Given the description of an element on the screen output the (x, y) to click on. 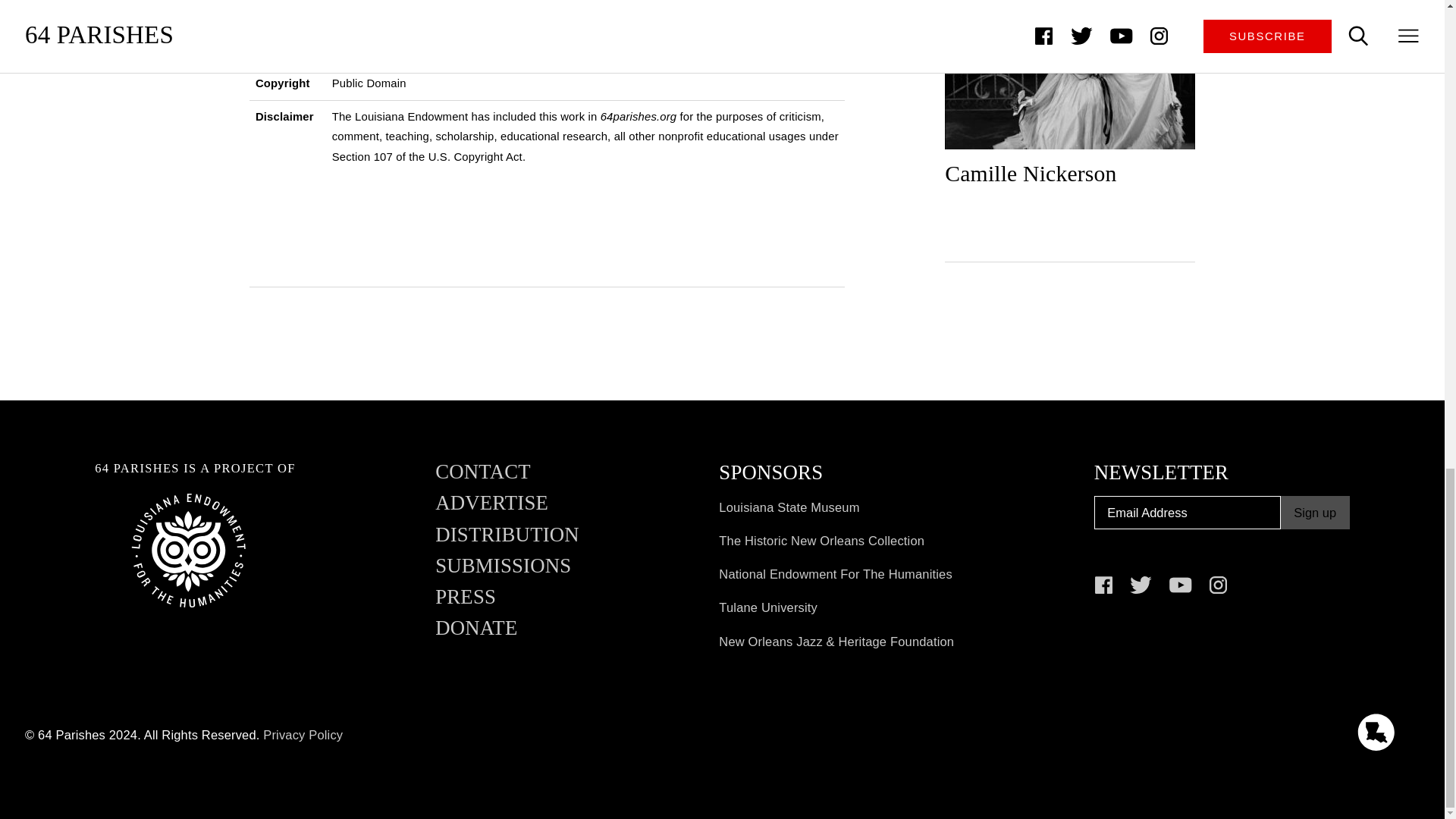
CONTACT (483, 477)
ADVERTISE (491, 508)
Camille Nickerson (1069, 101)
Sign up (1315, 512)
